Given the description of an element on the screen output the (x, y) to click on. 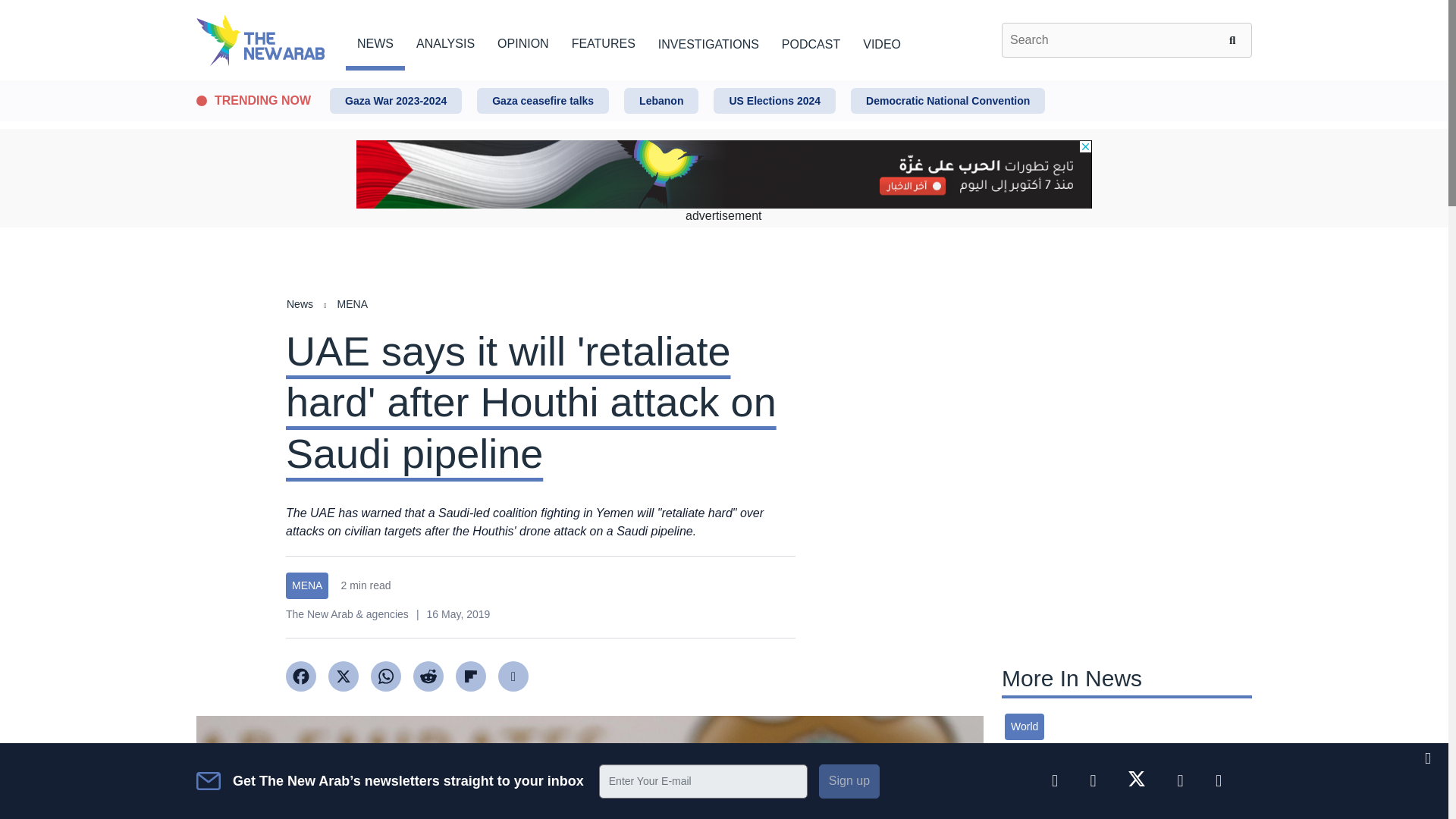
OPINION (523, 41)
Search (1234, 39)
ANALYSIS (445, 41)
Skip to main content (724, 81)
NEWS (375, 41)
